Given the description of an element on the screen output the (x, y) to click on. 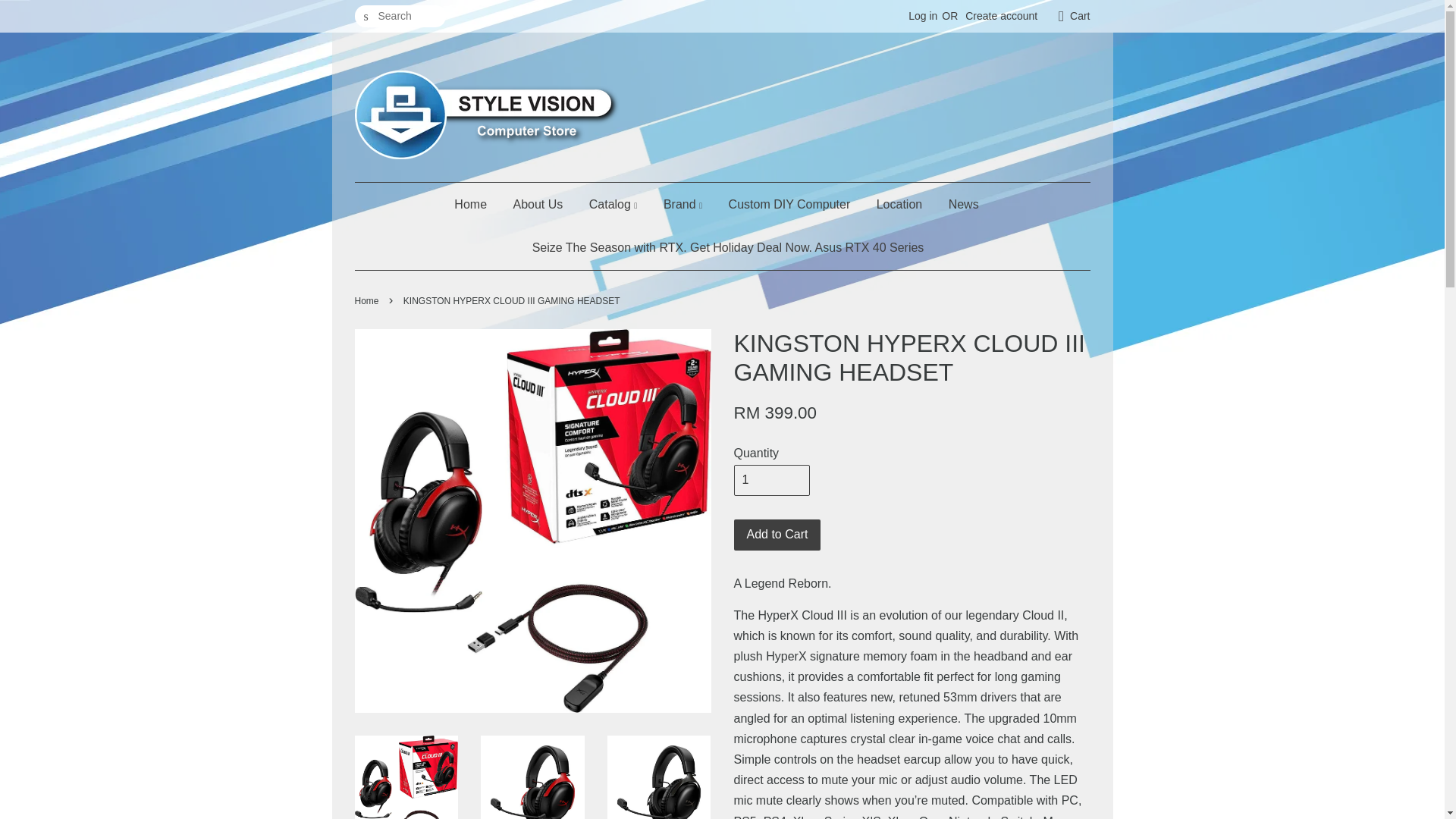
Cart (1079, 16)
Create account (1000, 15)
1 (771, 480)
Log in (922, 15)
Back to the homepage (368, 300)
Search (366, 16)
